Given the description of an element on the screen output the (x, y) to click on. 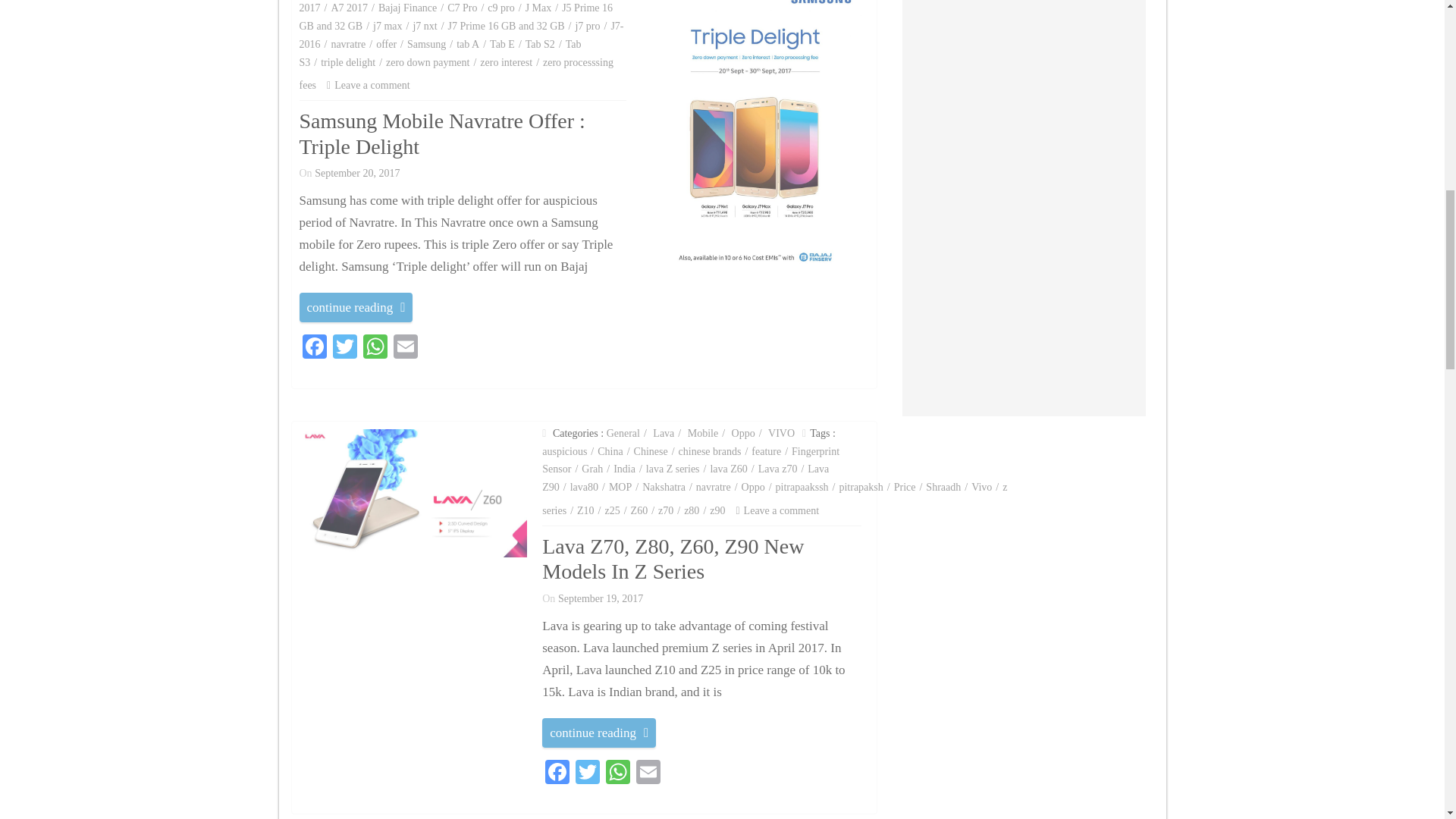
Facebook (313, 348)
Email (648, 773)
Email (405, 348)
Twitter (344, 348)
WhatsApp (617, 773)
WhatsApp (374, 348)
Facebook (556, 773)
Twitter (587, 773)
